Given the description of an element on the screen output the (x, y) to click on. 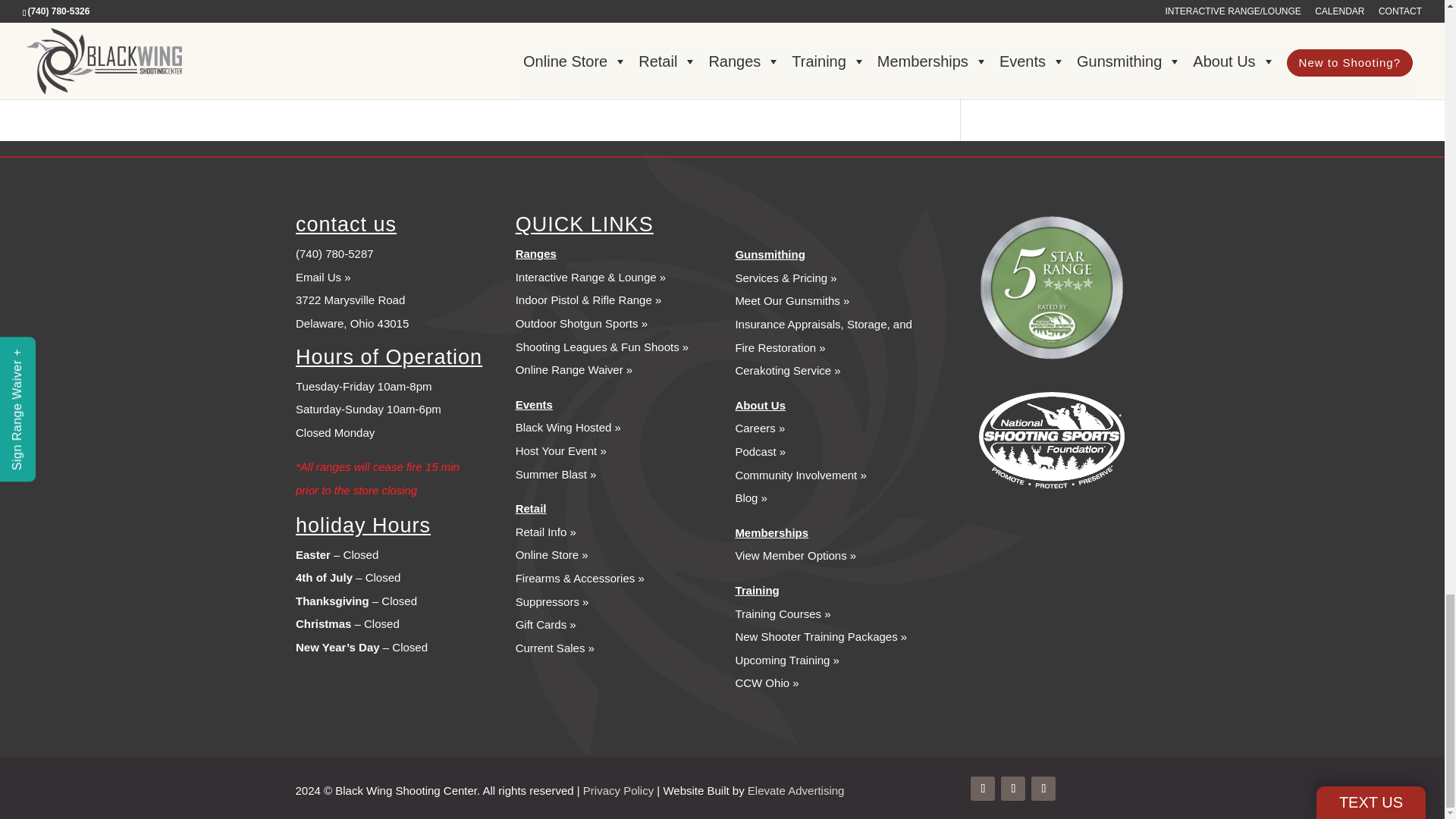
Follow on Instagram (1042, 788)
Follow on Facebook (982, 788)
Follow on Youtube (1013, 788)
